Given the description of an element on the screen output the (x, y) to click on. 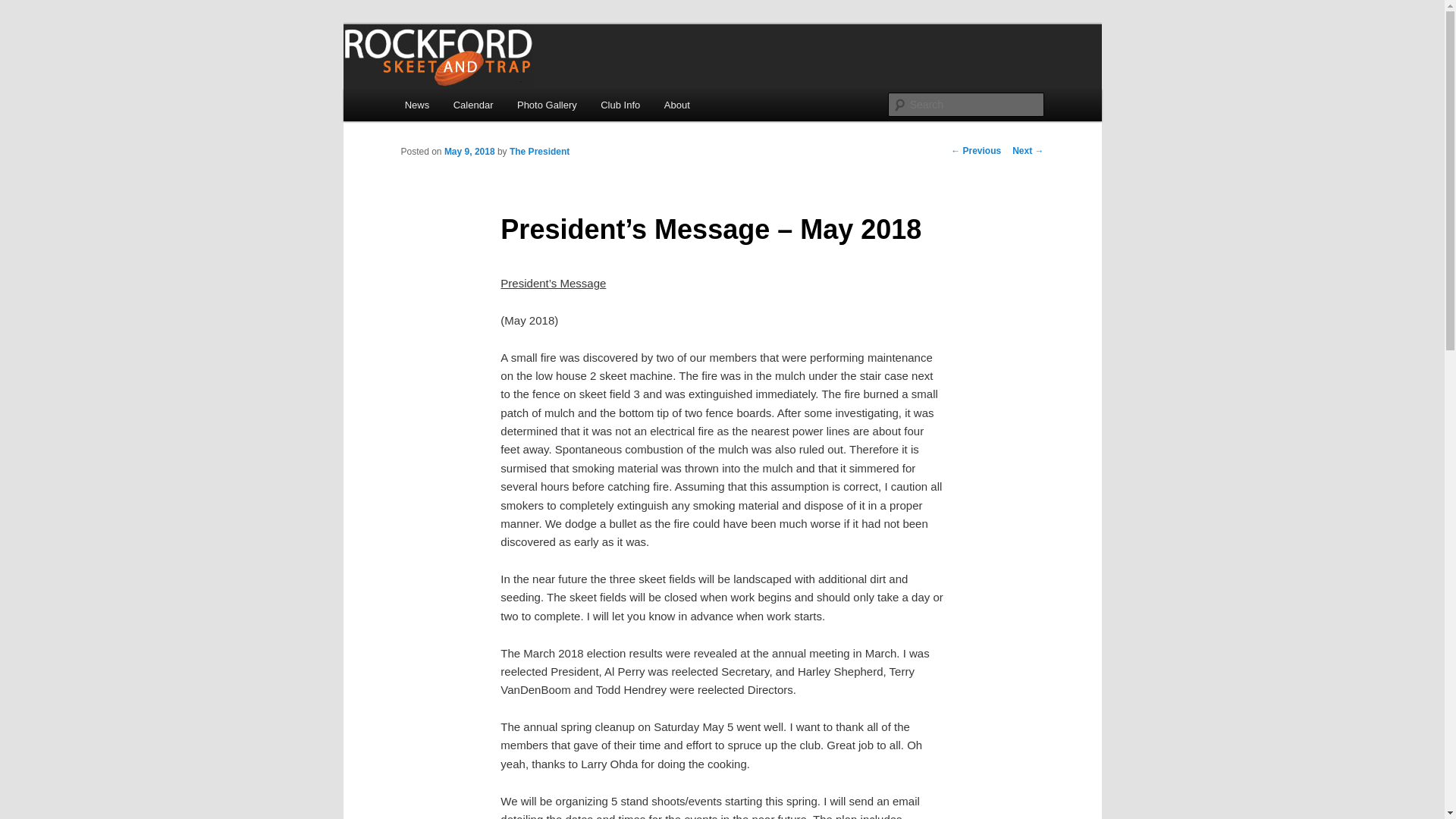
About (676, 104)
News (417, 104)
View all posts by The President (539, 151)
May 9, 2018 (469, 151)
Photo Gallery (546, 104)
The President (539, 151)
Calendar (473, 104)
12:33 pm (469, 151)
Club Info (620, 104)
Search (24, 8)
